Given the description of an element on the screen output the (x, y) to click on. 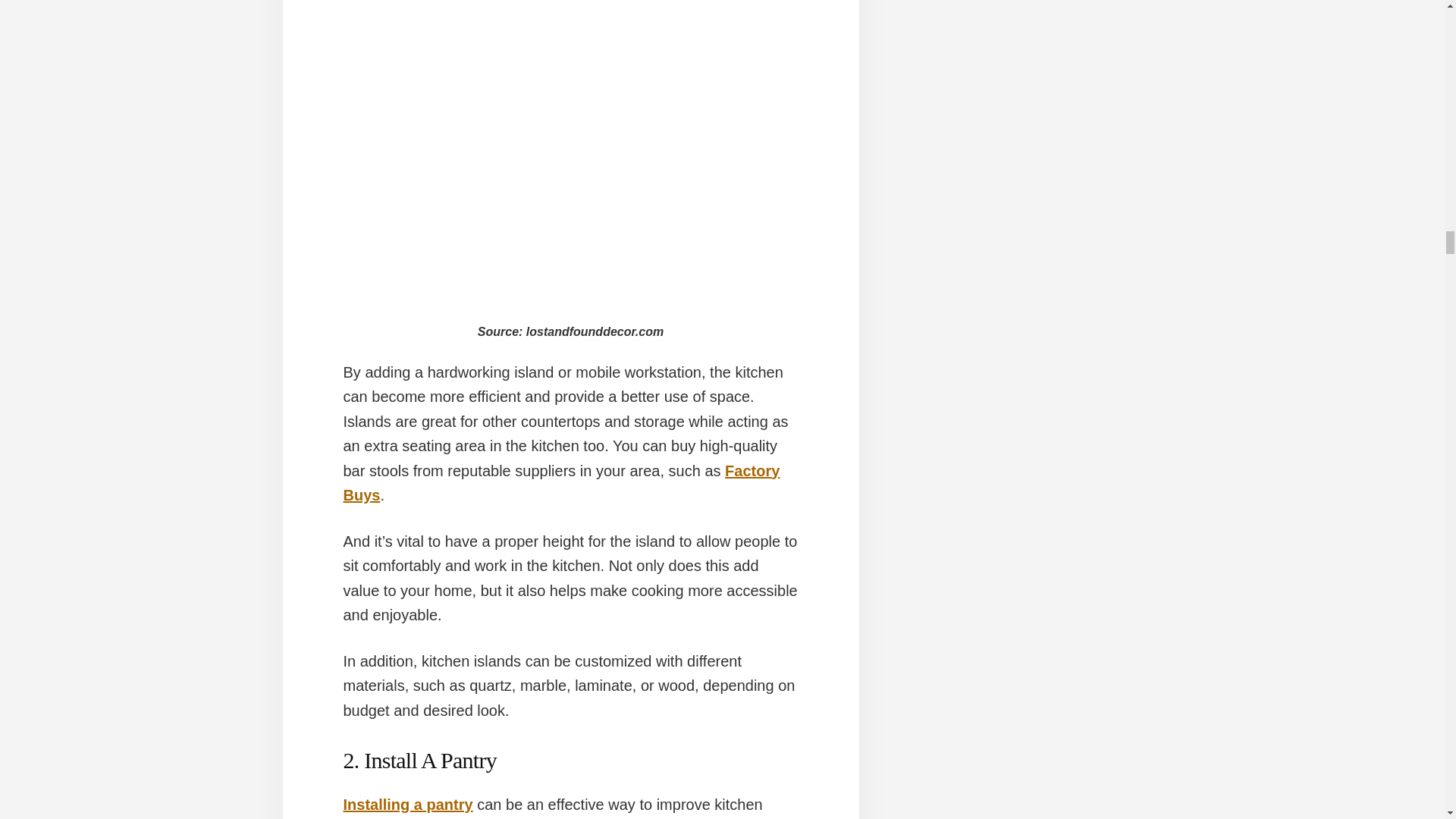
Factory Buys (560, 483)
Installing a pantry (406, 804)
